Given the description of an element on the screen output the (x, y) to click on. 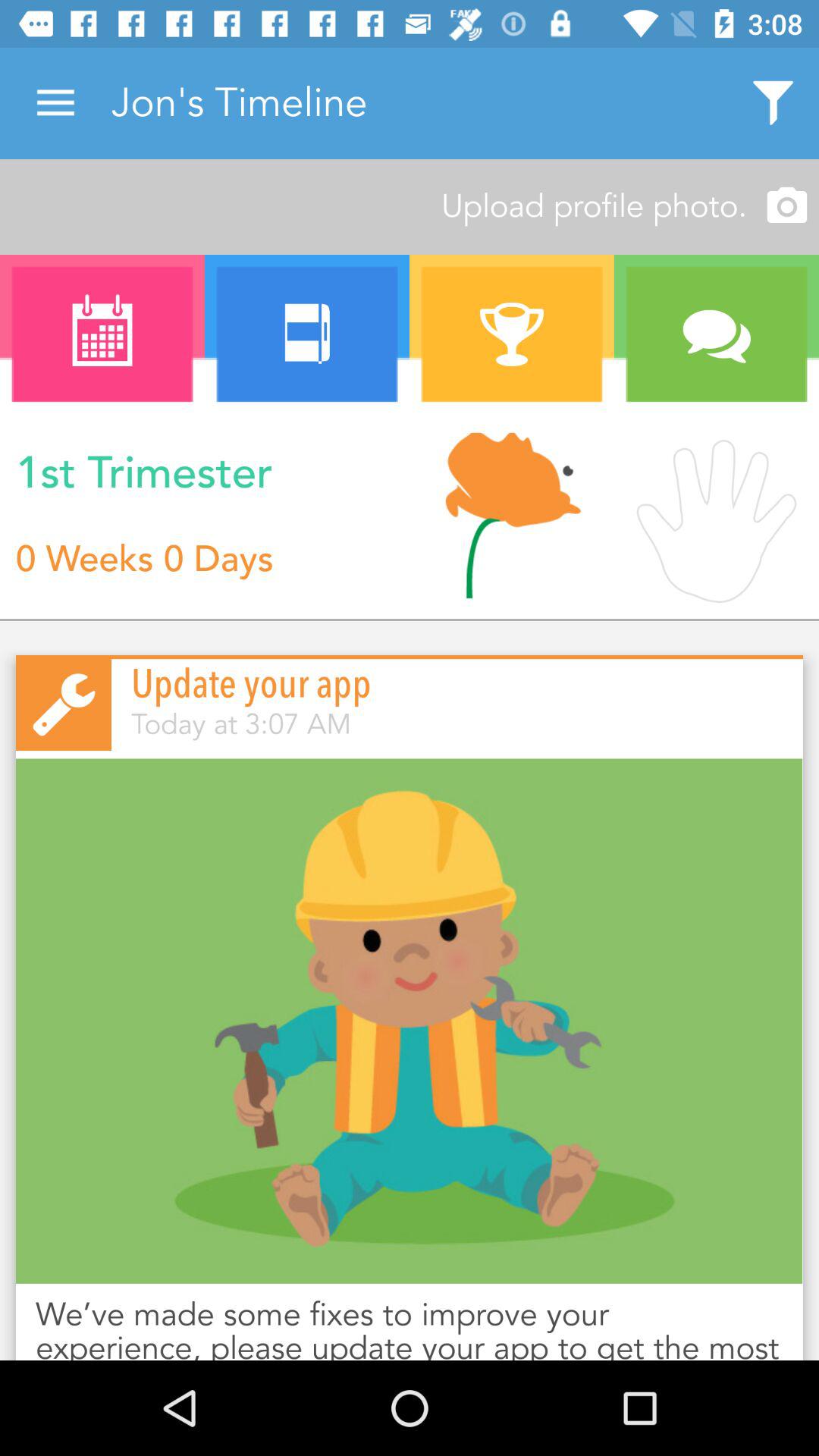
turn on item above the upload profile photo. icon (55, 103)
